Given the description of an element on the screen output the (x, y) to click on. 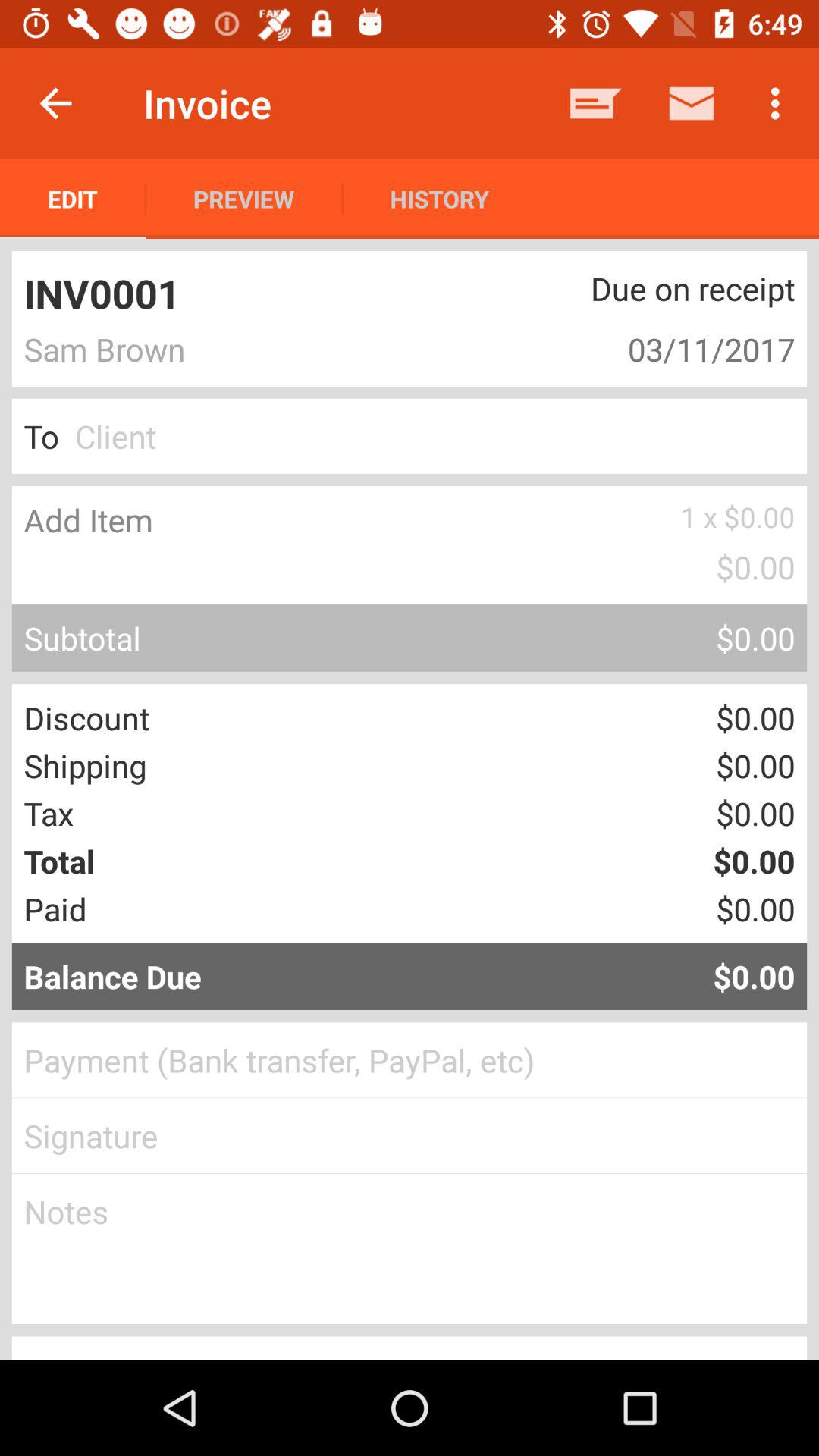
swipe to the preview item (243, 198)
